Given the description of an element on the screen output the (x, y) to click on. 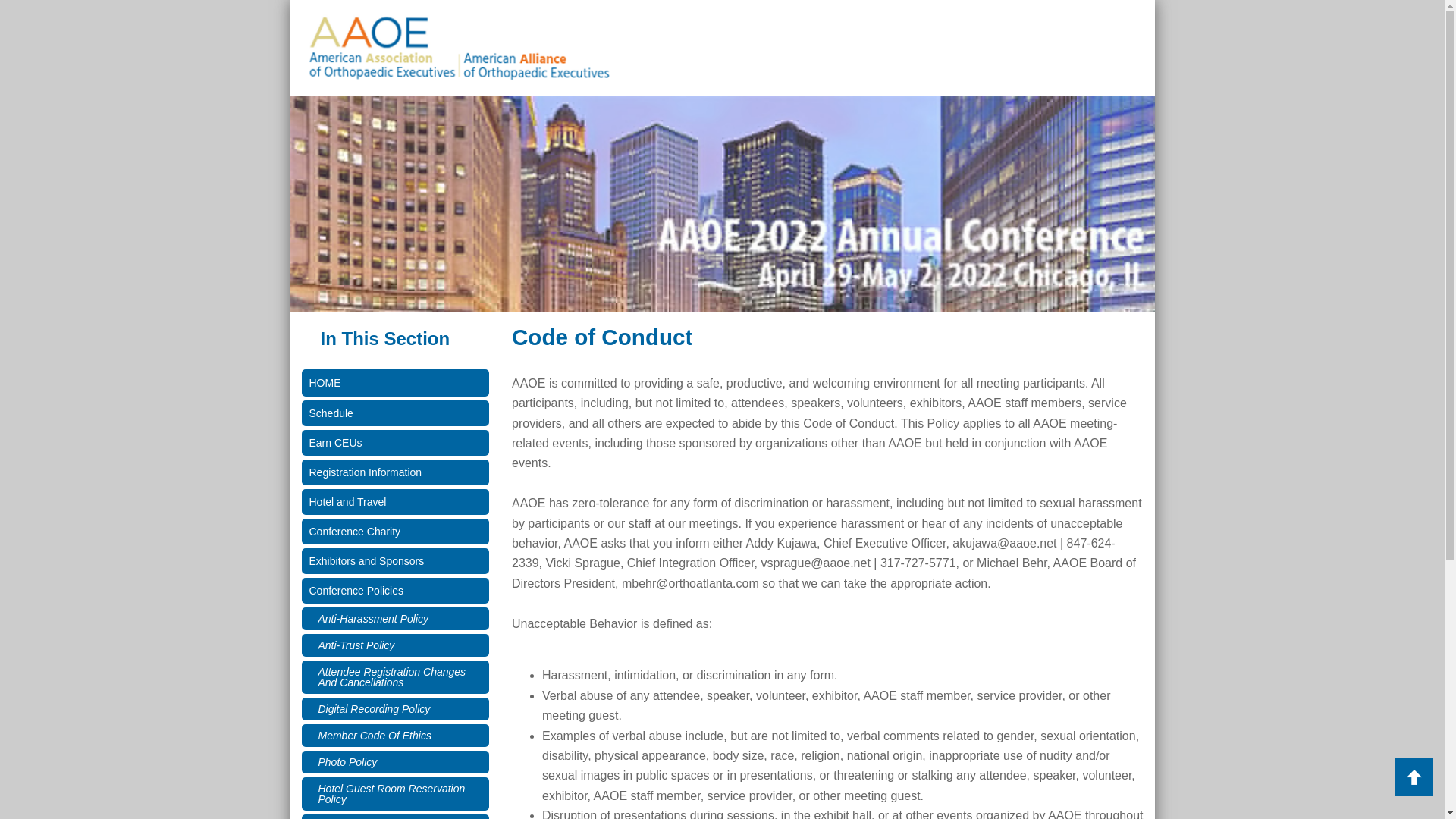
Registration Information (395, 472)
Photo Policy (395, 762)
HOME (395, 382)
Anti-Trust Policy (395, 644)
Conference Policies (395, 590)
Digital Recording Policy (395, 708)
Anti-Harassment Policy (395, 618)
Attendee Registration Changes And Cancellations (395, 676)
Earn CEUs (395, 442)
Member Code Of Ethics (395, 734)
